Given the description of an element on the screen output the (x, y) to click on. 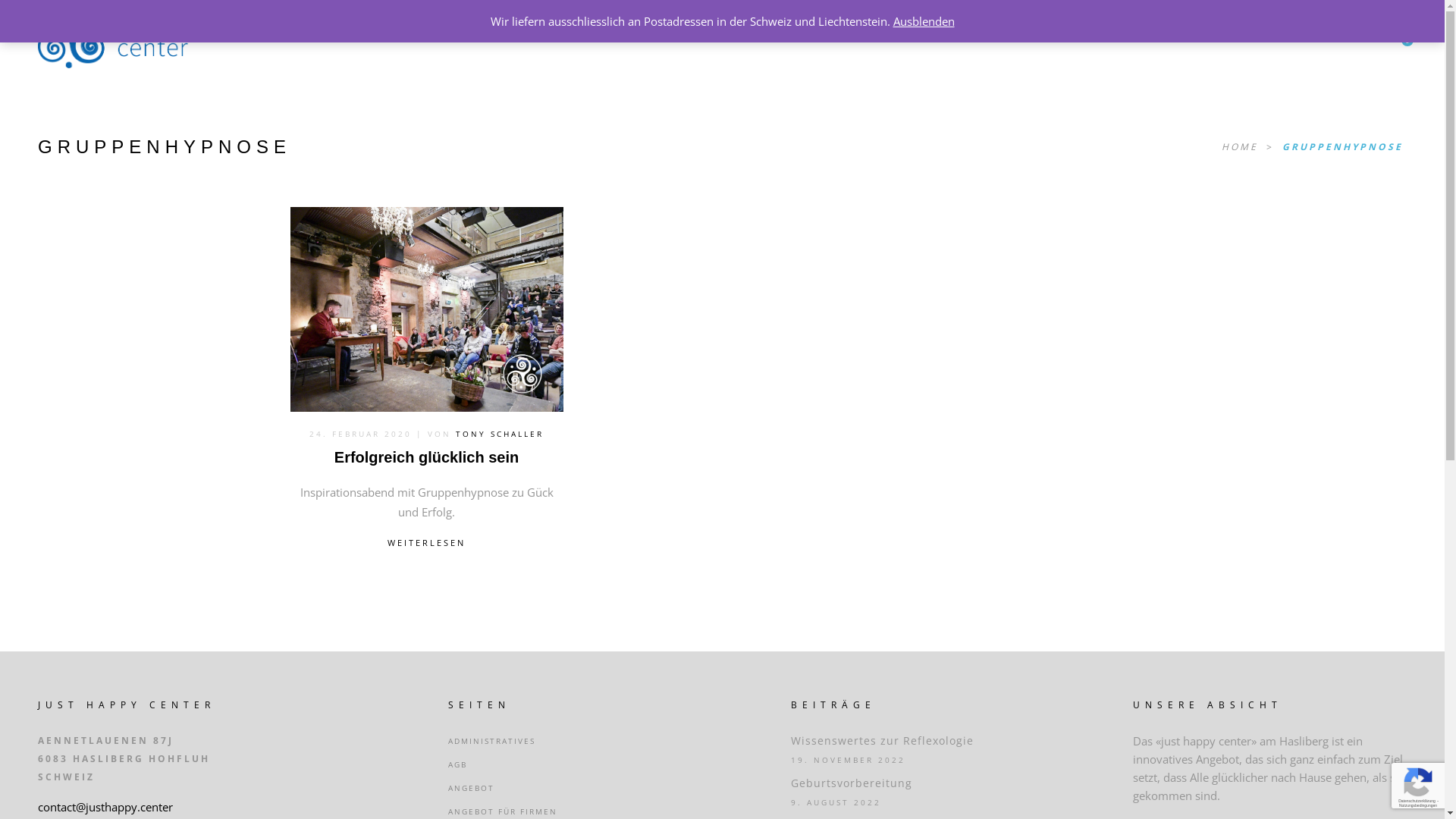
WEITERLESEN Element type: text (426, 542)
Geburtsvorbereitung Element type: text (850, 782)
ADMINISTRATIVES Element type: text (1004, 33)
Wissenswertes zur Reflexologie Element type: text (881, 740)
Ausblenden Element type: text (923, 20)
ANGEBOT Element type: text (375, 33)
TONY SCHALLER Element type: text (499, 433)
BILDERBUCH Element type: text (794, 33)
AGB Element type: text (457, 764)
0 Element type: text (1400, 33)
ANGEBOT Element type: text (471, 787)
SHOP Element type: text (449, 33)
WUNSCHLISTE Element type: text (1302, 33)
contact@justhappy.center Element type: text (104, 806)
ANMELDEN Element type: text (1215, 33)
ADMINISTRATIVES Element type: text (491, 740)
HOME Element type: text (1241, 146)
GRUPPENHYPNOSE Element type: text (1342, 146)
VERANSTALTUNGEN Element type: text (554, 33)
HOME Element type: text (299, 33)
